Given the description of an element on the screen output the (x, y) to click on. 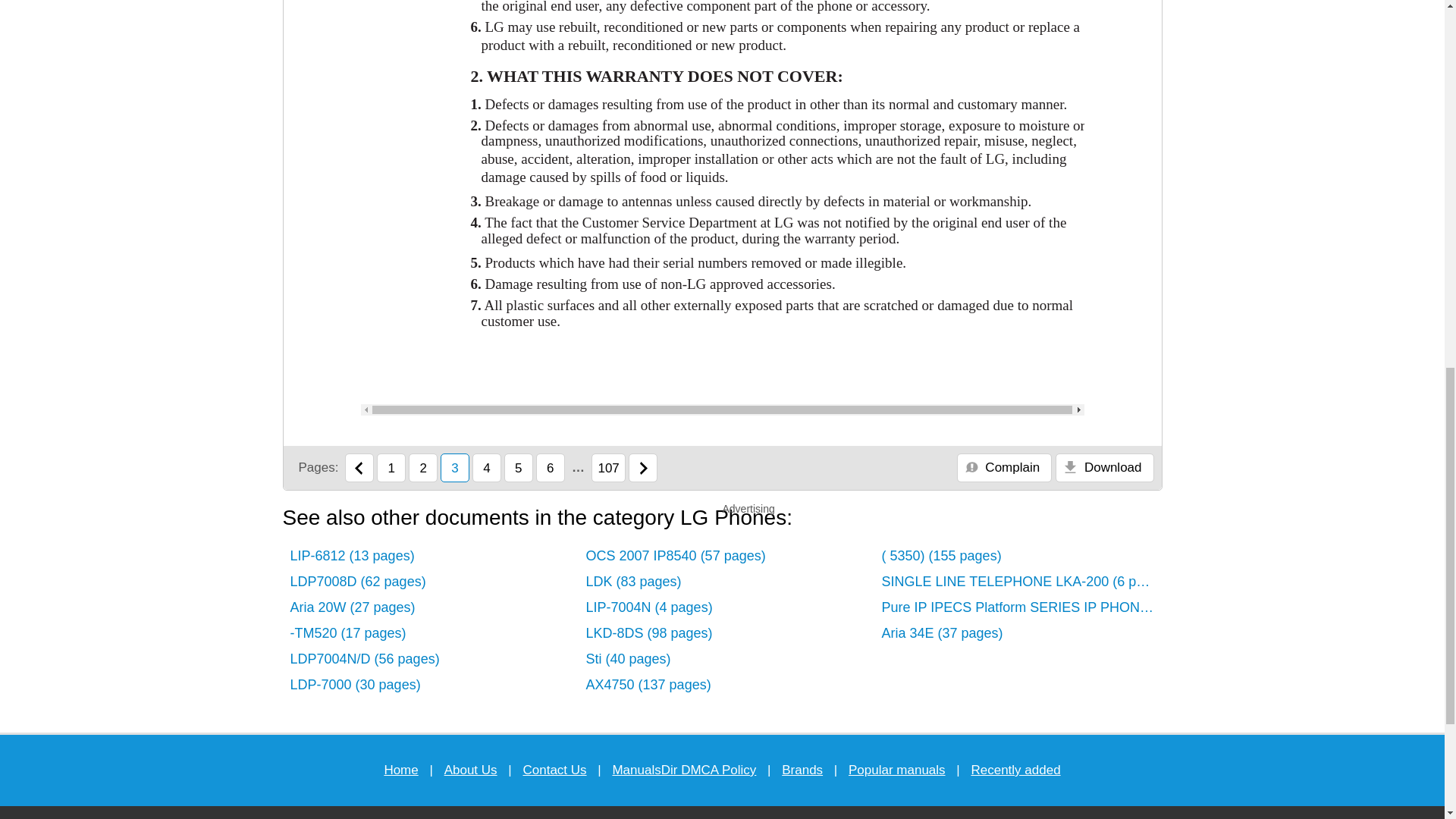
Download Manual (1104, 467)
Report a broken manual (1004, 467)
Advertisement (1221, 44)
